Given the description of an element on the screen output the (x, y) to click on. 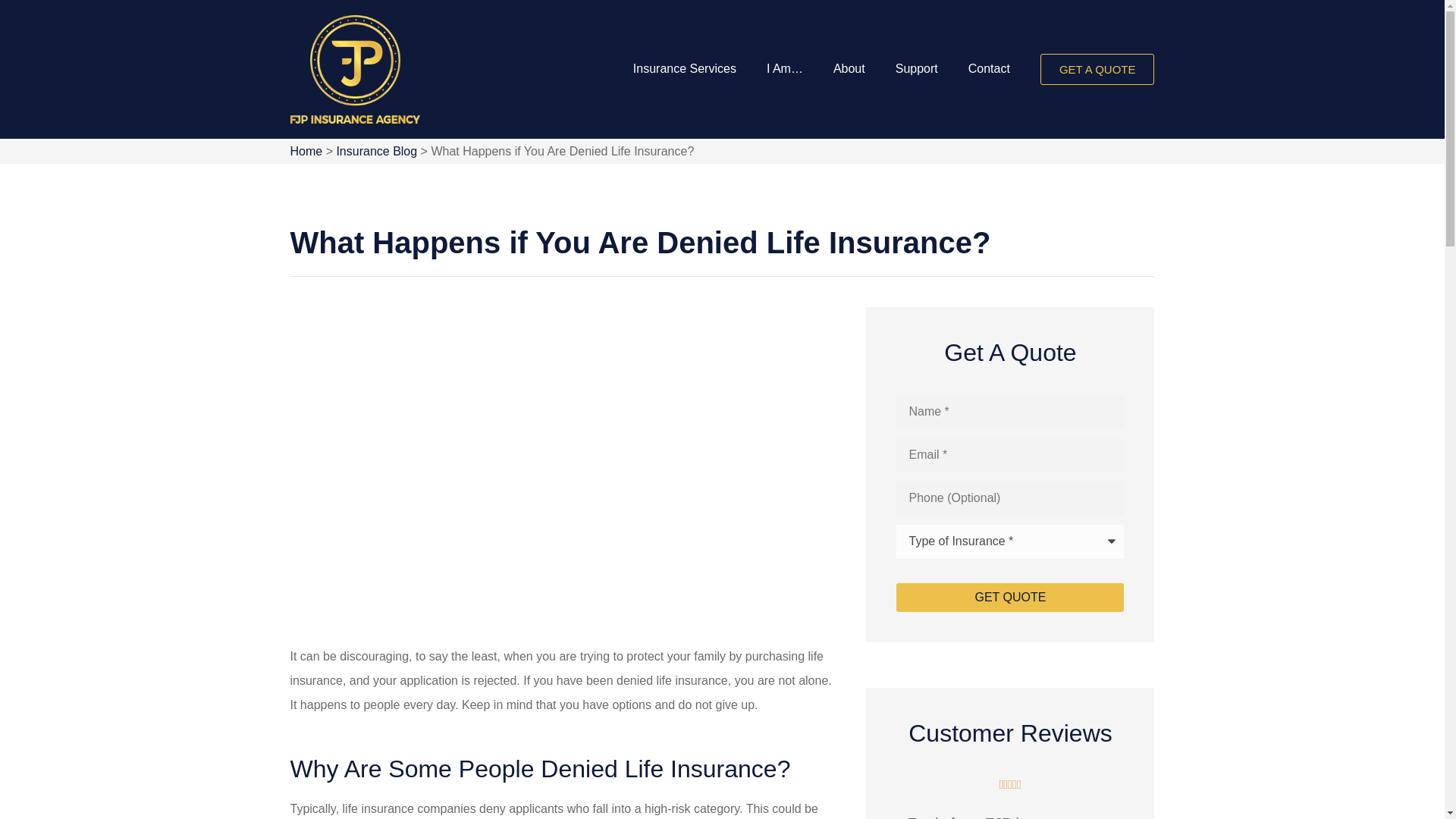
Get Quote (1010, 597)
Support (916, 68)
Insurance Services (684, 68)
About (849, 68)
fjp-insurance-agency-inc (354, 69)
